Given the description of an element on the screen output the (x, y) to click on. 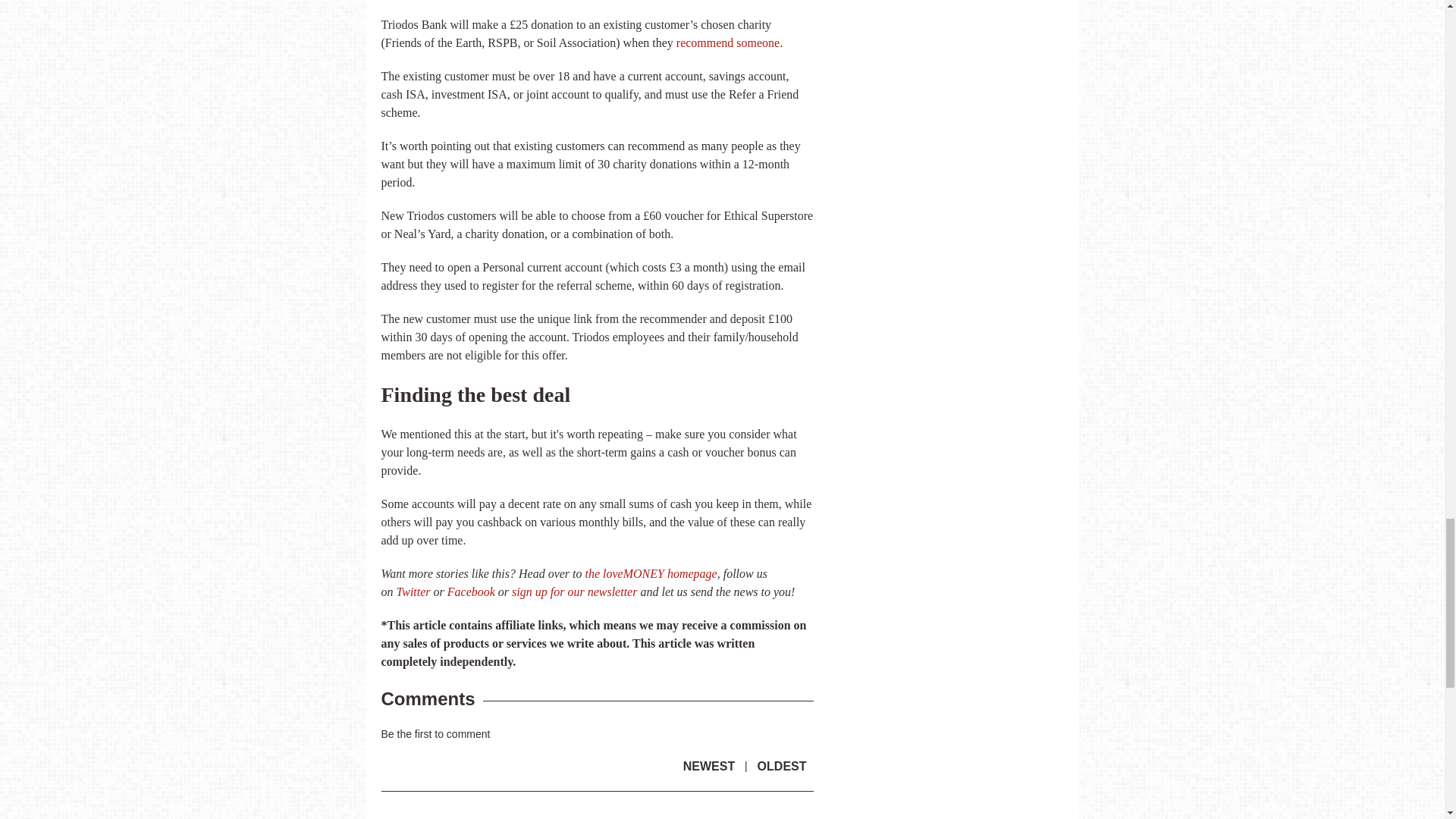
recommend someone (727, 42)
